Given the description of an element on the screen output the (x, y) to click on. 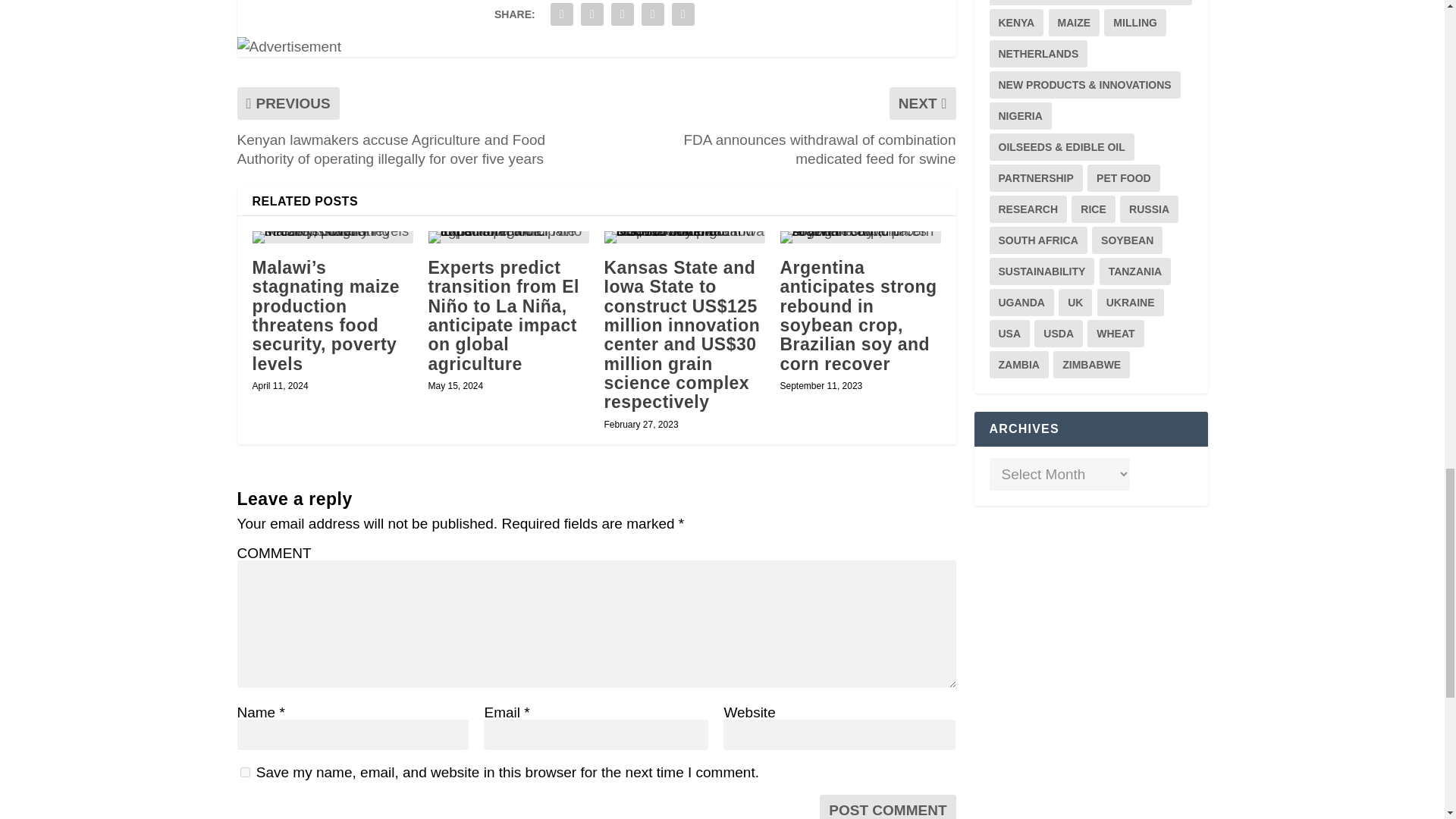
yes (244, 772)
Post Comment (887, 806)
